Given the description of an element on the screen output the (x, y) to click on. 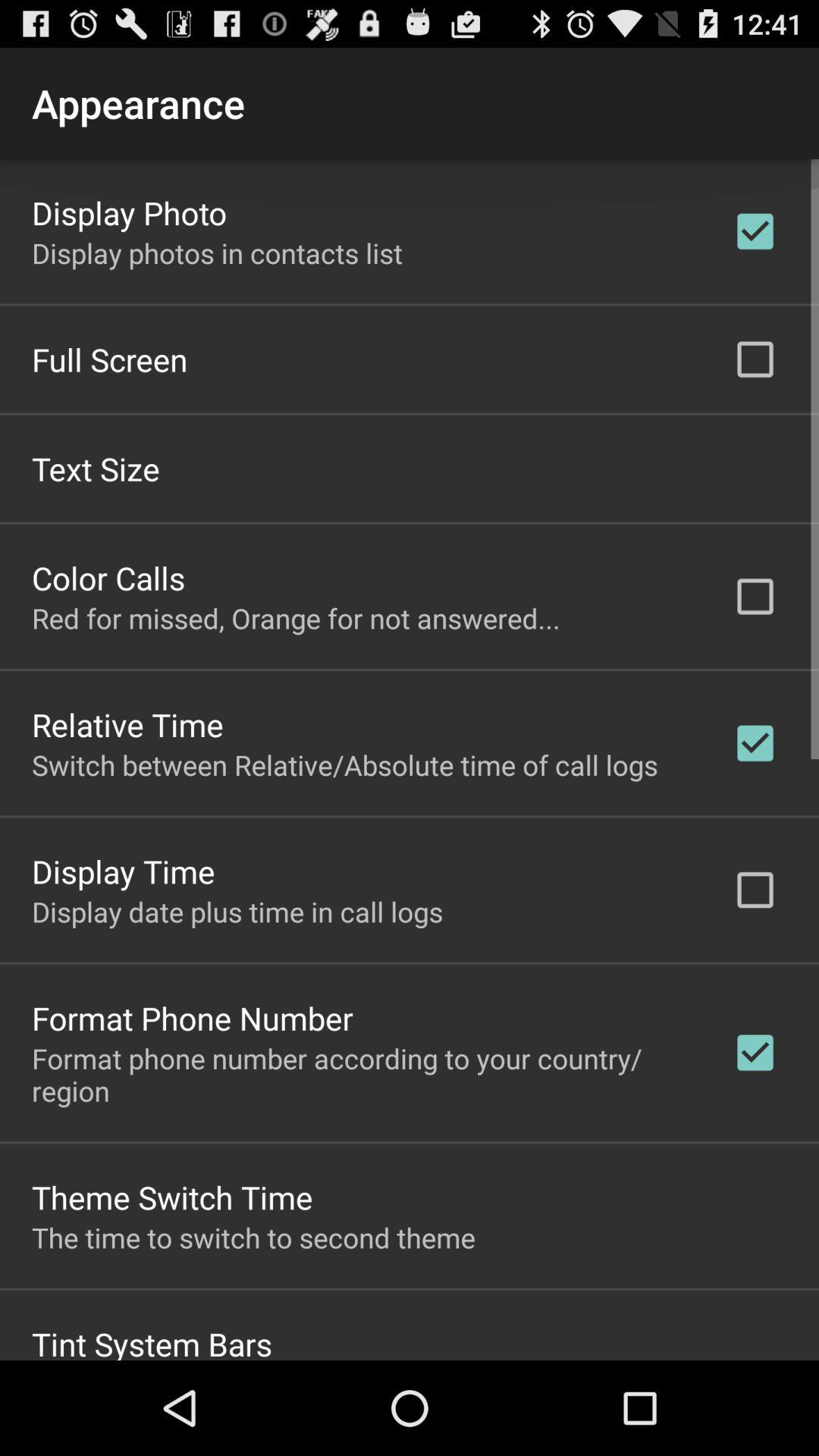
click color calls icon (108, 576)
